Given the description of an element on the screen output the (x, y) to click on. 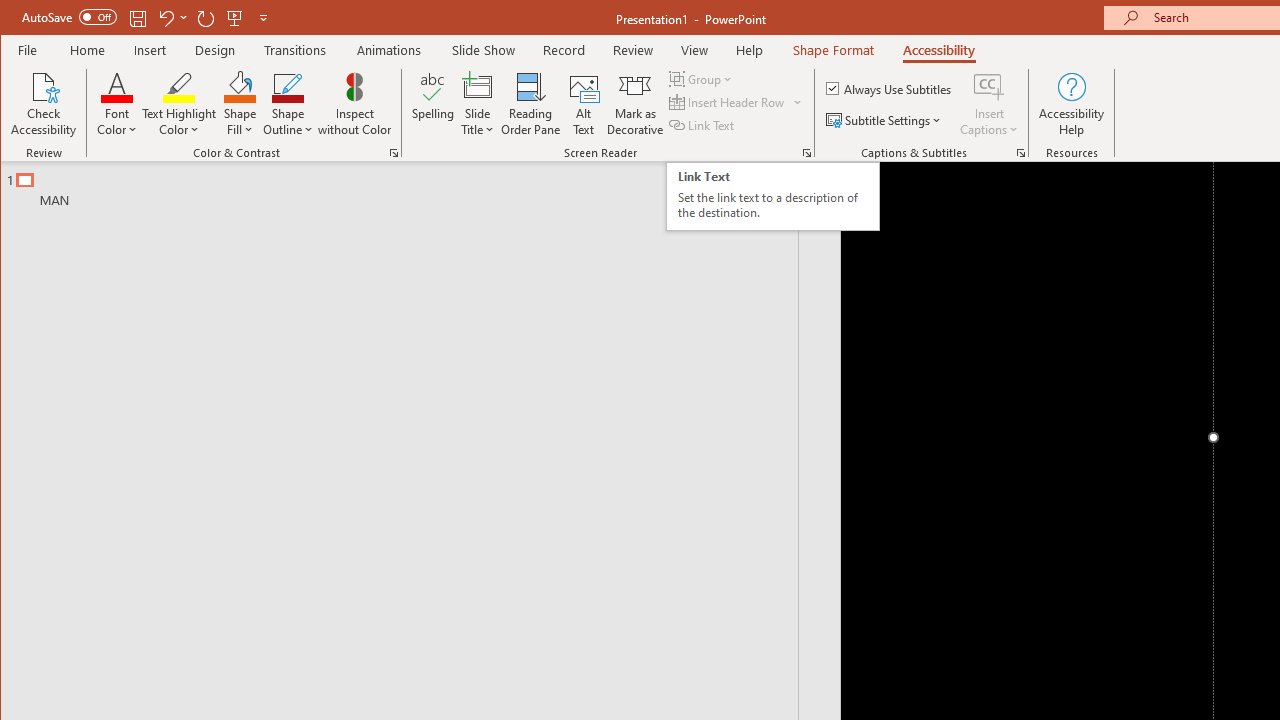
Link Text (703, 124)
Text Highlight Color No Color (178, 86)
Insert Captions (989, 86)
Slide Title (477, 104)
Always Use Subtitles (890, 88)
Inspect without Color (355, 104)
Slide Title (477, 86)
Reading Order Pane (531, 104)
